Given the description of an element on the screen output the (x, y) to click on. 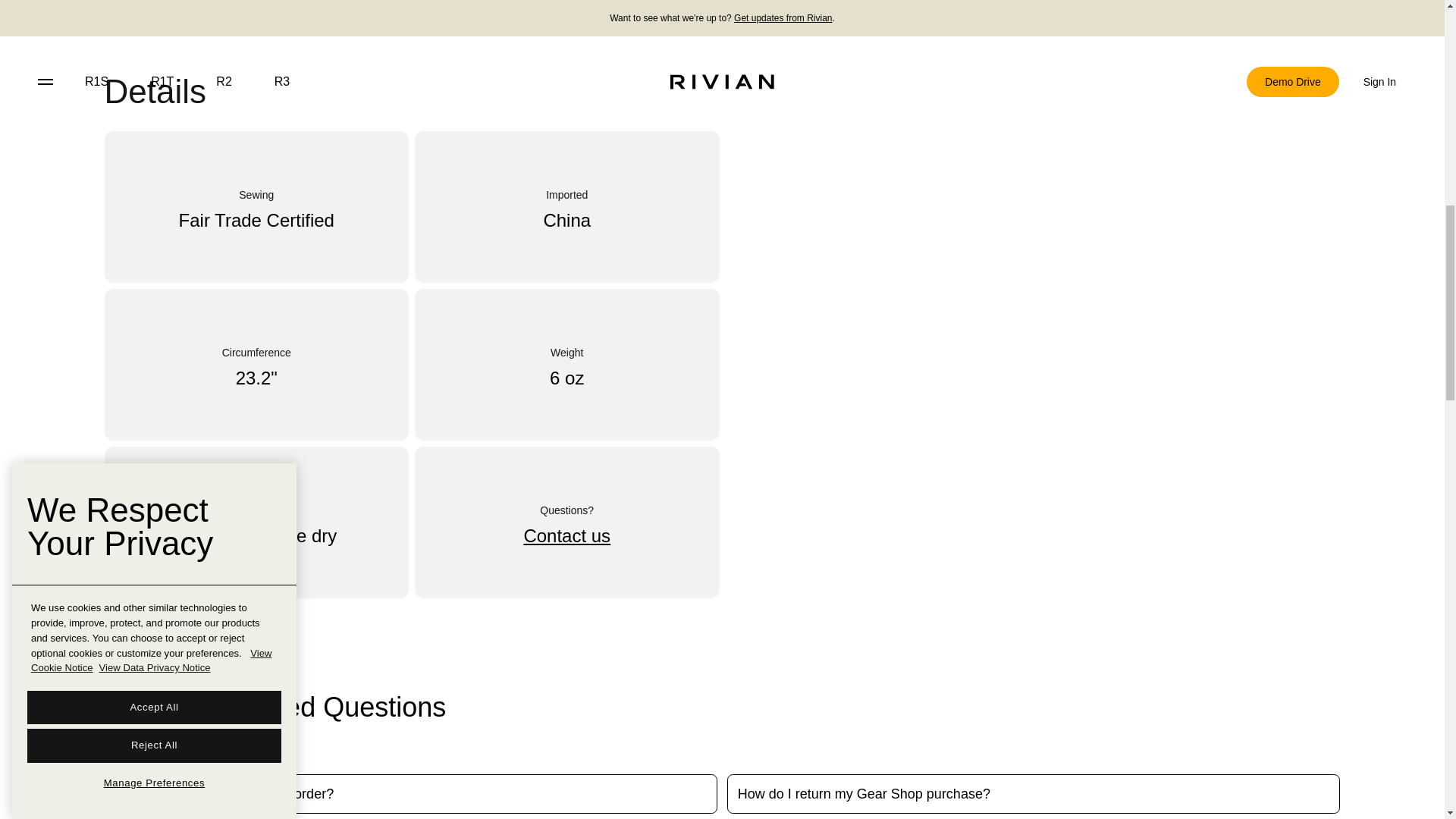
Contact us (566, 536)
